Given the description of an element on the screen output the (x, y) to click on. 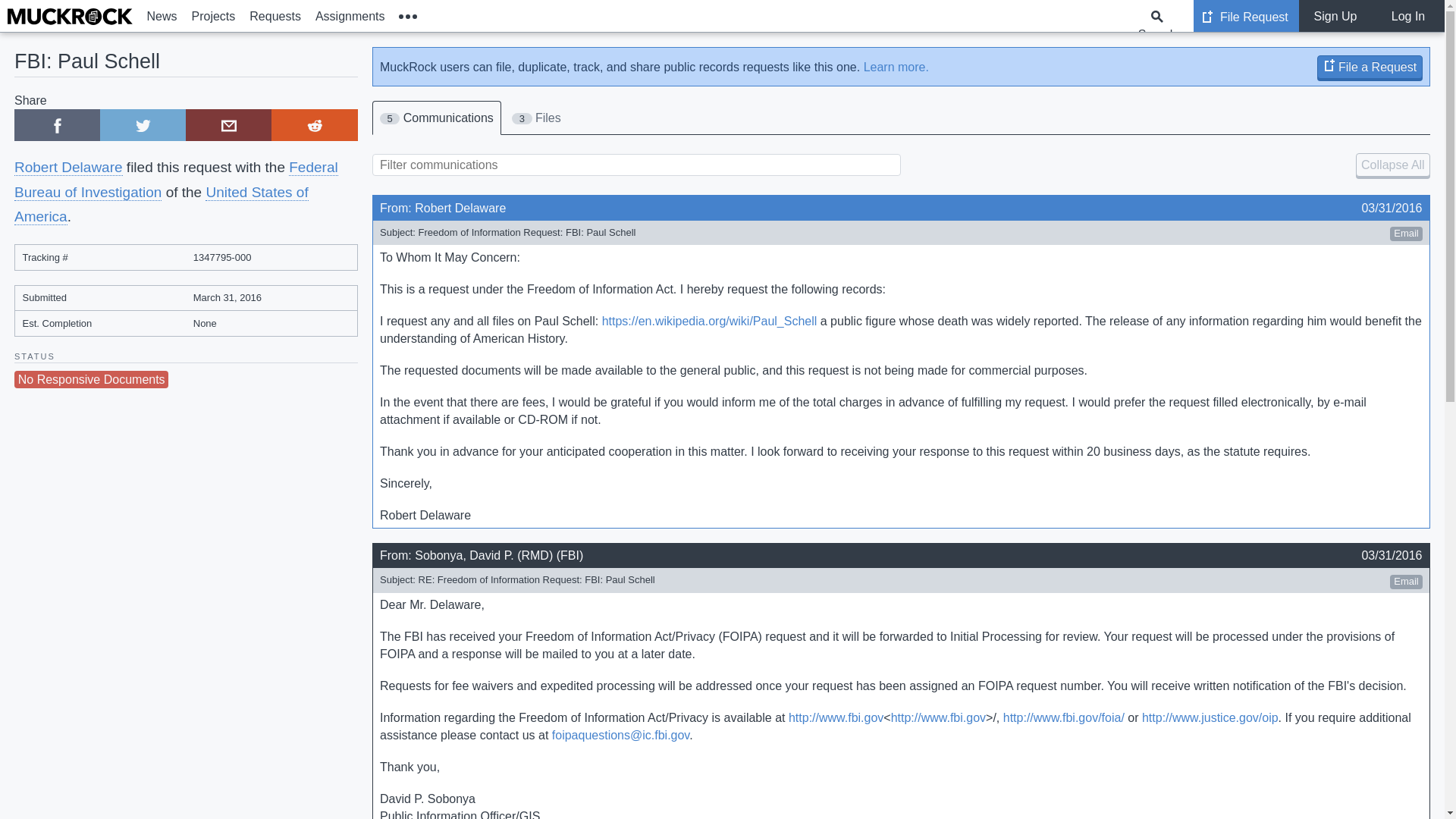
Projects (213, 15)
Learn more. (895, 66)
Collapse All (1392, 164)
MuckRock Logotype A boldfaced logotype that spells MuckRock. (69, 15)
Sign Up (1334, 15)
Create Request File Request (1245, 15)
Create Request File a Request (1369, 65)
United States of America (161, 205)
Robert Delaware (68, 167)
Create Request (1329, 64)
MuckRock Logotype A boldfaced logotype that spells MuckRock. (69, 16)
News (161, 15)
Create Request (1206, 16)
Requests (275, 15)
Assignments (349, 15)
